Given the description of an element on the screen output the (x, y) to click on. 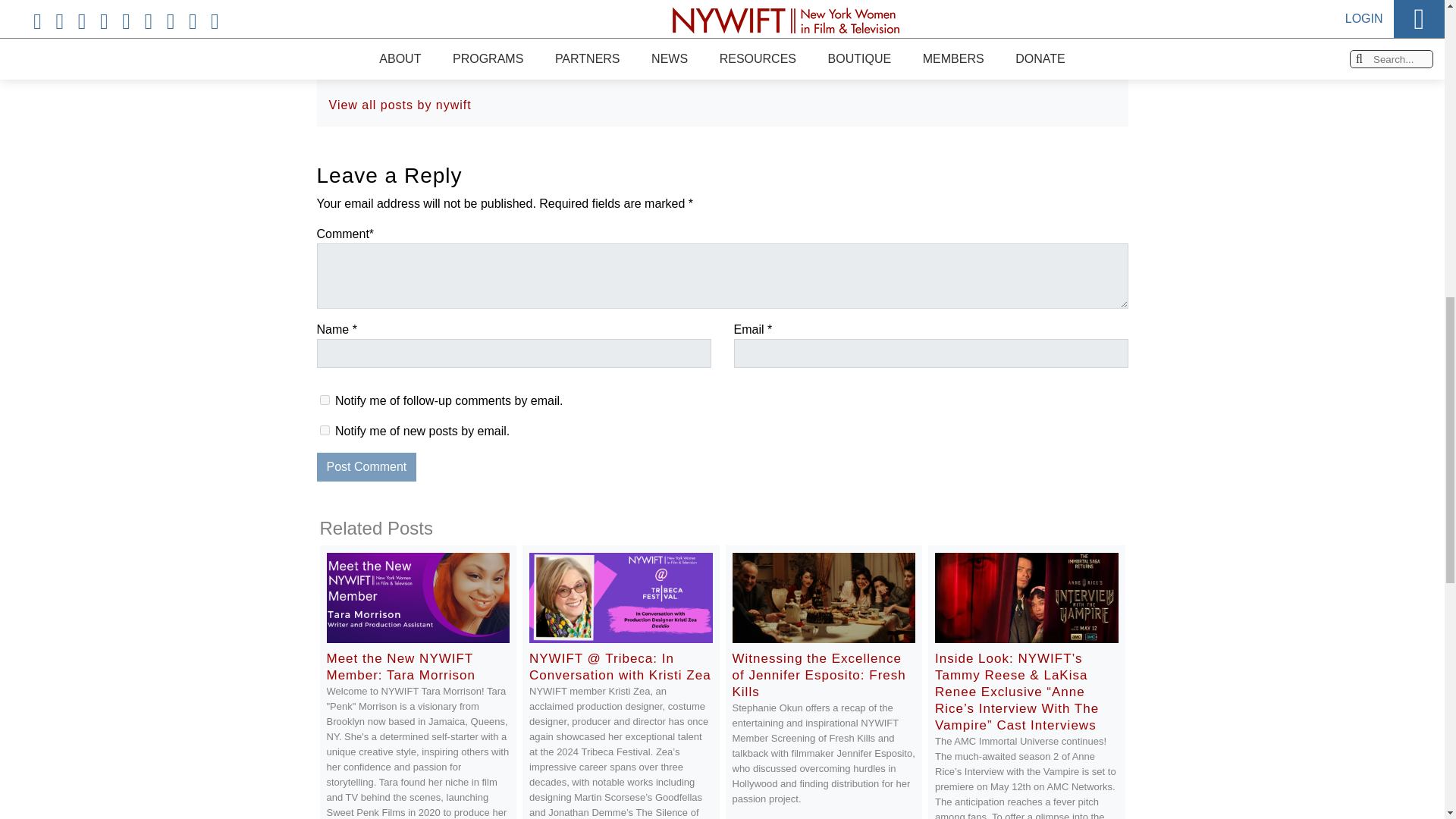
Post Comment (366, 466)
subscribe (325, 429)
subscribe (325, 399)
